Given the description of an element on the screen output the (x, y) to click on. 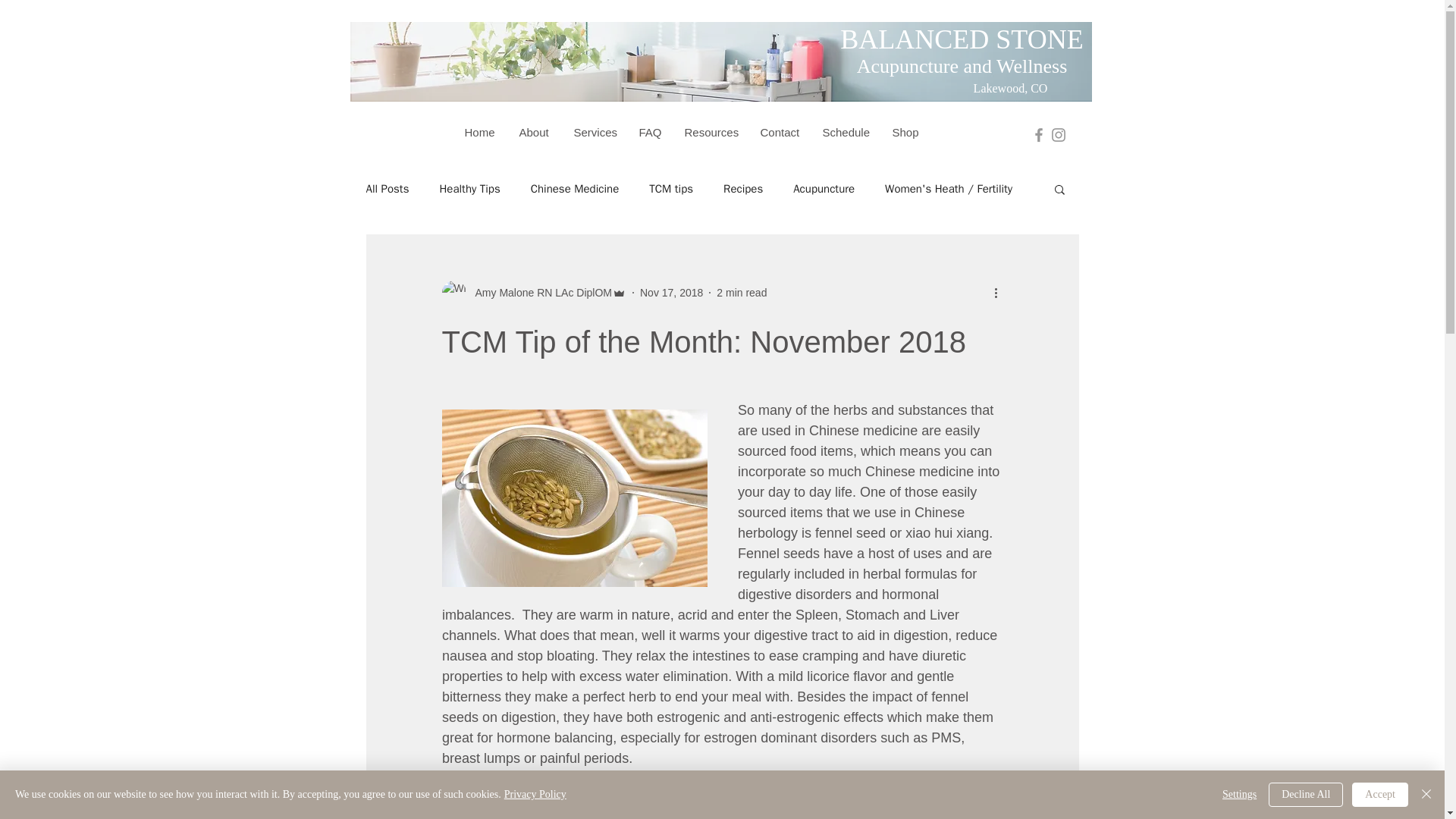
TCM tips (671, 188)
Contact (779, 132)
2 min read (741, 292)
BALANCED STONE (961, 39)
Shop (905, 132)
Nov 17, 2018 (671, 292)
Schedule (845, 132)
All Posts (387, 188)
Services (594, 132)
Lakewood, CO (1011, 88)
